Given the description of an element on the screen output the (x, y) to click on. 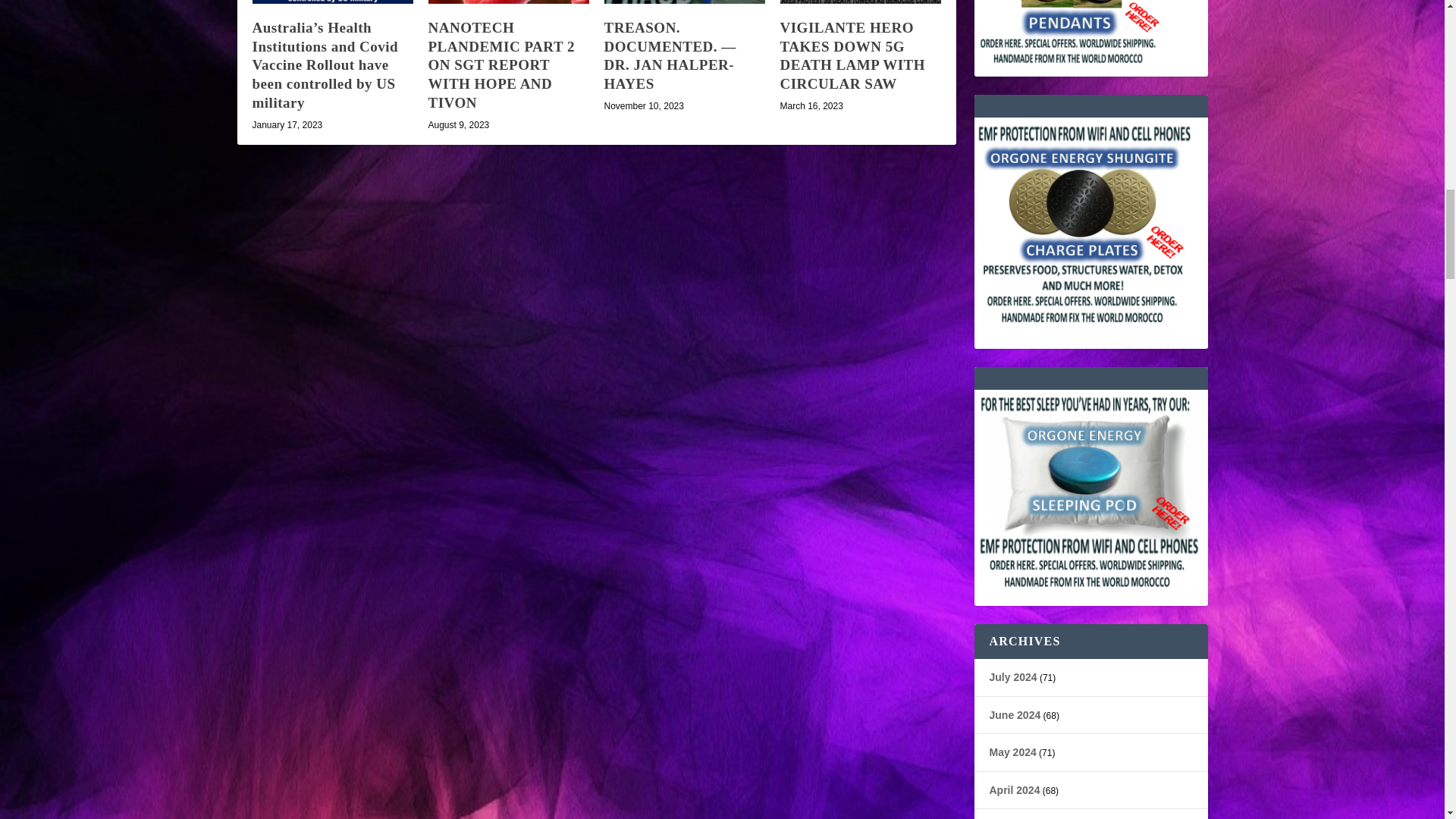
VIGILANTE HERO TAKES DOWN 5G DEATH LAMP WITH CIRCULAR SAW (859, 2)
NANOTECH PLANDEMIC PART 2 ON SGT REPORT WITH HOPE AND TIVON (500, 64)
NANOTECH PLANDEMIC PART 2 ON SGT REPORT WITH HOPE AND TIVON (508, 2)
VIGILANTE HERO TAKES DOWN 5G DEATH LAMP WITH CIRCULAR SAW (851, 55)
